Given the description of an element on the screen output the (x, y) to click on. 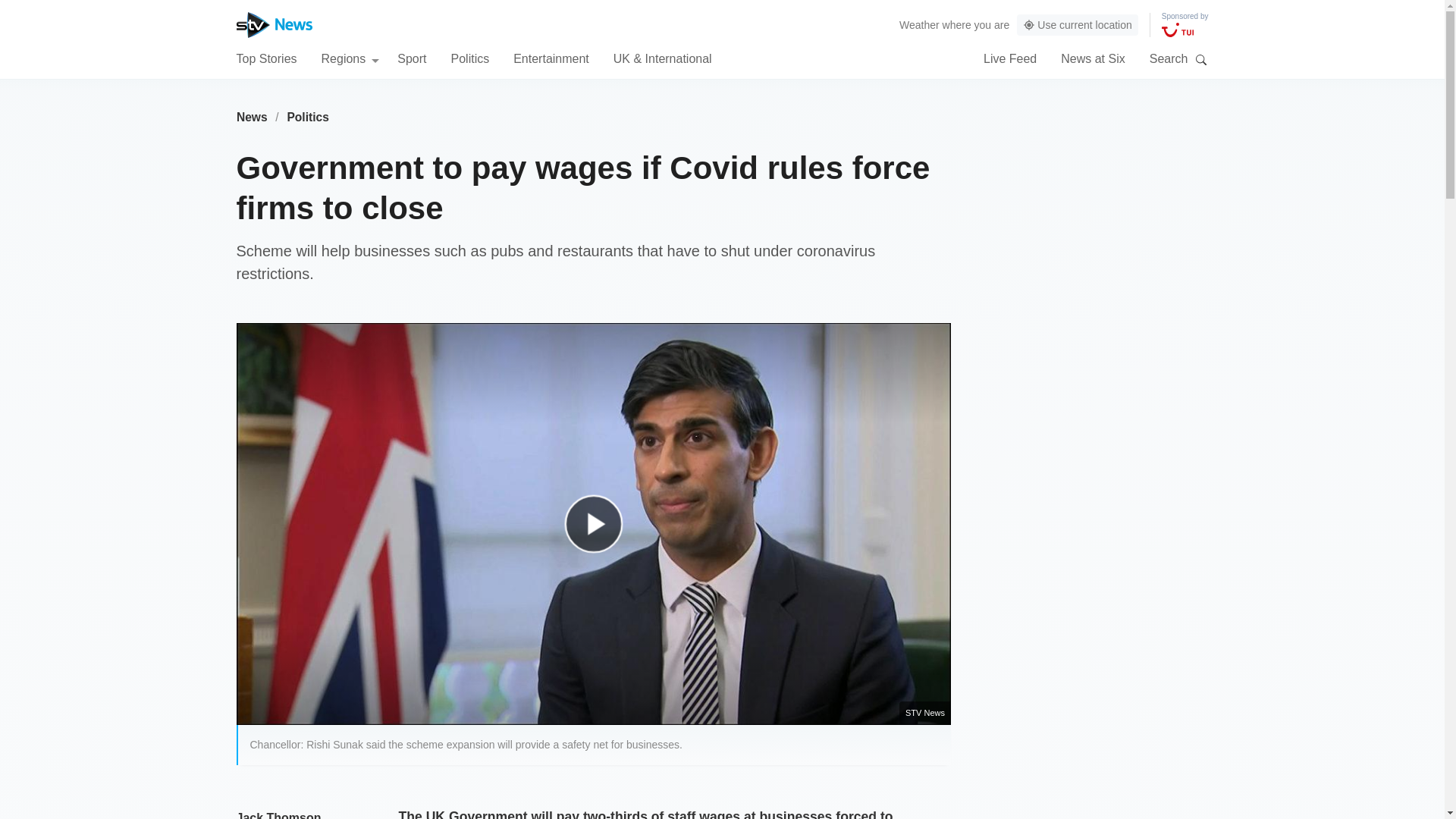
Use current location (1077, 25)
Search (1201, 59)
Top Stories (266, 57)
Weather (919, 24)
Politics (307, 116)
Live Feed (1010, 57)
News at Six (1092, 57)
News (252, 116)
Play Video (600, 530)
Politics (469, 57)
Regions (350, 57)
Entertainment (551, 57)
